Given the description of an element on the screen output the (x, y) to click on. 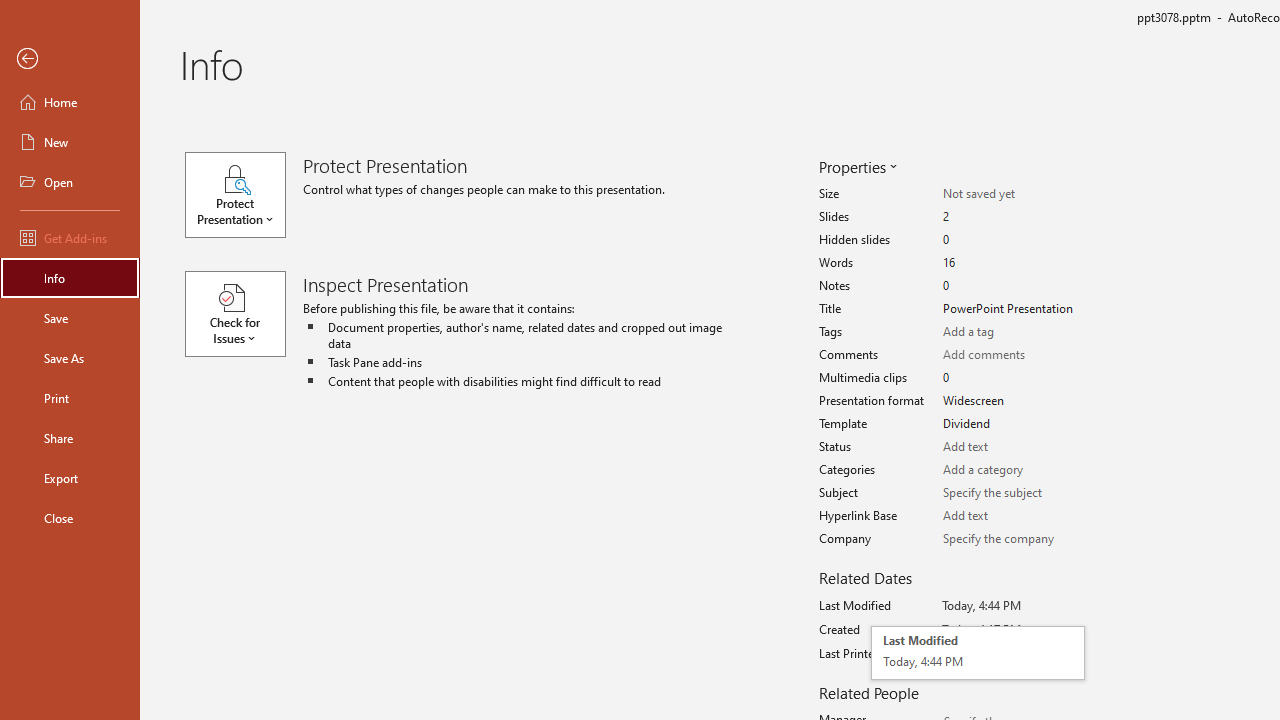
Company (1012, 538)
Slides (1012, 217)
Notes (1012, 286)
